Given the description of an element on the screen output the (x, y) to click on. 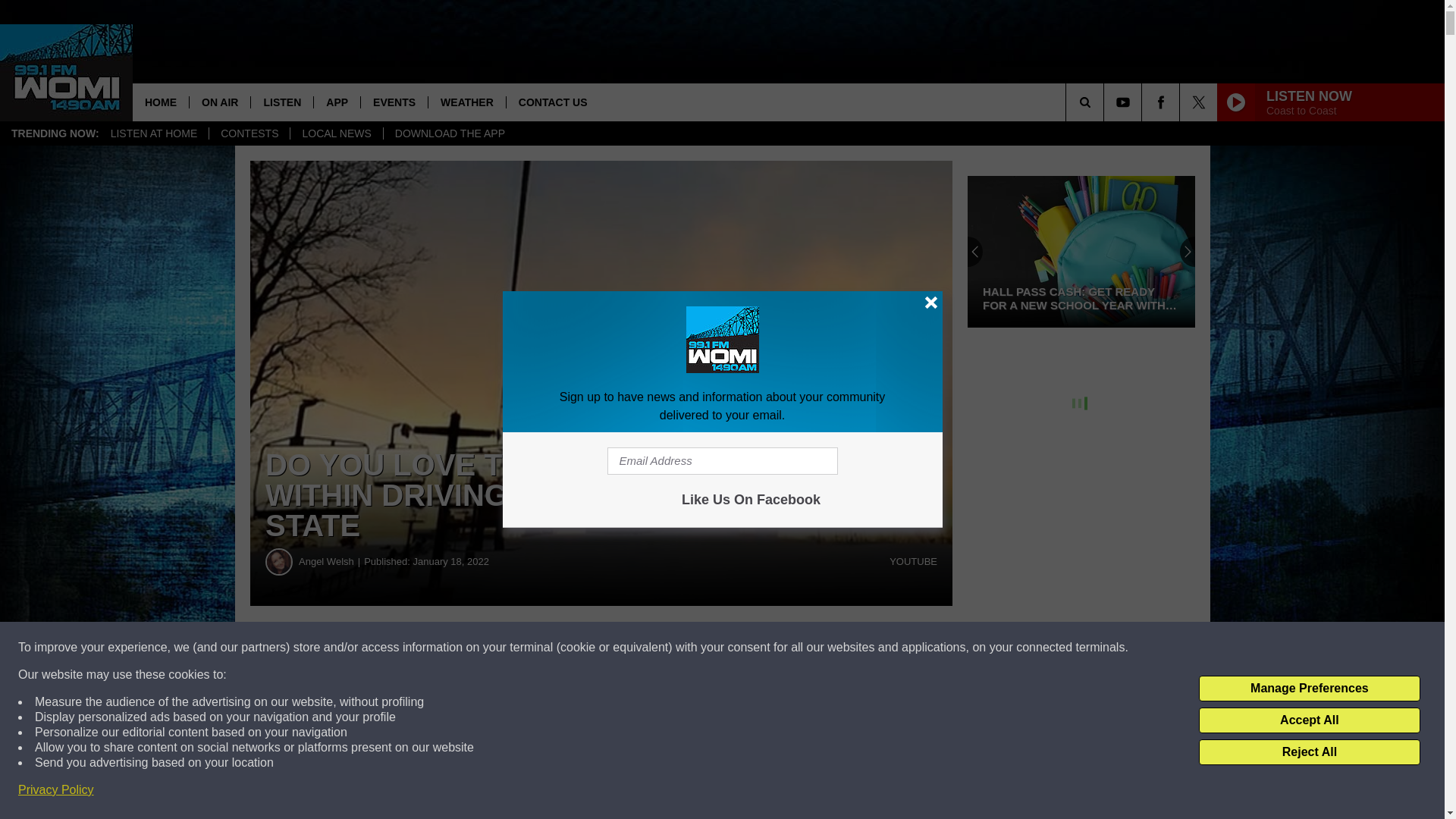
Privacy Policy (55, 789)
LISTEN (281, 102)
DOWNLOAD THE APP (449, 133)
CONTESTS (248, 133)
SEARCH (1106, 102)
Manage Preferences (1309, 688)
ON AIR (219, 102)
Share on Facebook (460, 647)
EVENTS (393, 102)
Share on Twitter (741, 647)
CONTACT US (552, 102)
LISTEN AT HOME (154, 133)
LOCAL NEWS (335, 133)
HOME (160, 102)
APP (336, 102)
